Given the description of an element on the screen output the (x, y) to click on. 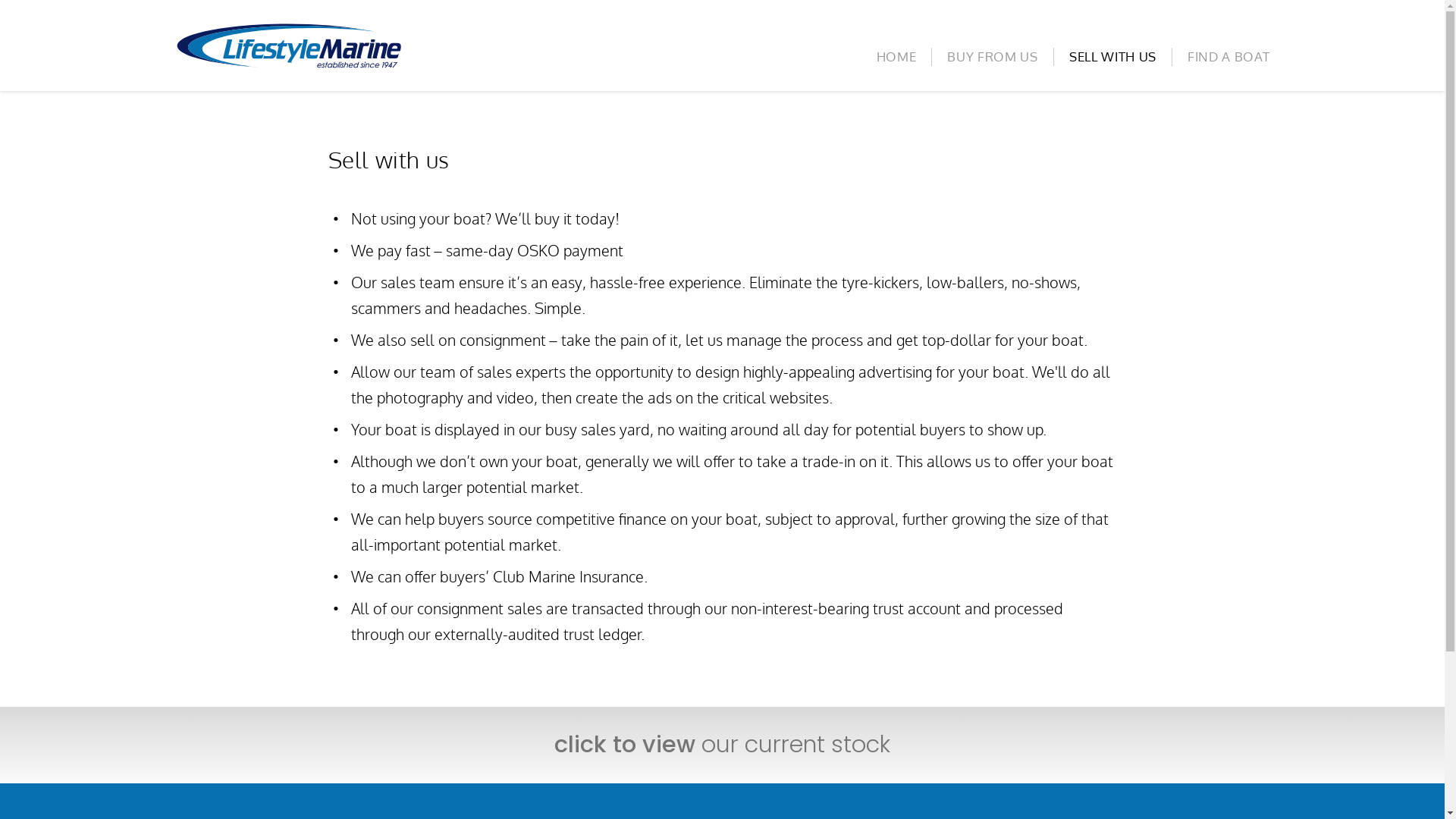
BUY FROM US Element type: text (991, 56)
HOME Element type: text (896, 56)
click to view our current stock Element type: text (722, 744)
SELL WITH US Element type: text (1112, 56)
FIND A BOAT Element type: text (1220, 56)
